Given the description of an element on the screen output the (x, y) to click on. 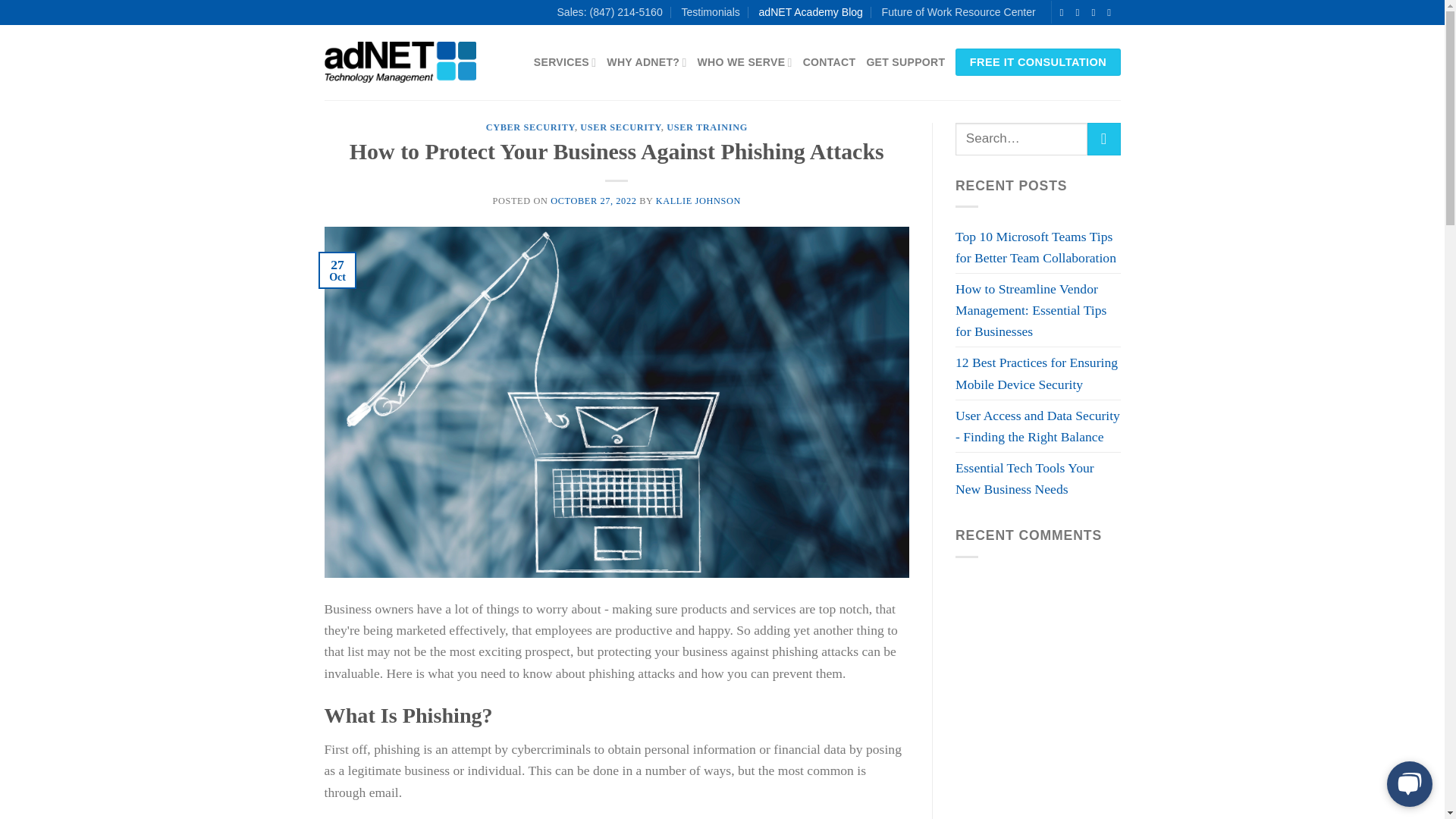
USER TRAINING (707, 127)
Future of Work Resource Center (958, 12)
FREE IT CONSULTATION (1037, 62)
adNET Academy Blog (809, 12)
adnet (400, 62)
Testimonials (710, 12)
CYBER SECURITY (530, 127)
SERVICES (565, 61)
CONTACT (829, 61)
GET SUPPORT (905, 61)
WHO WE SERVE (744, 61)
USER SECURITY (620, 127)
OCTOBER 27, 2022 (594, 200)
WHY ADNET? (646, 61)
